Given the description of an element on the screen output the (x, y) to click on. 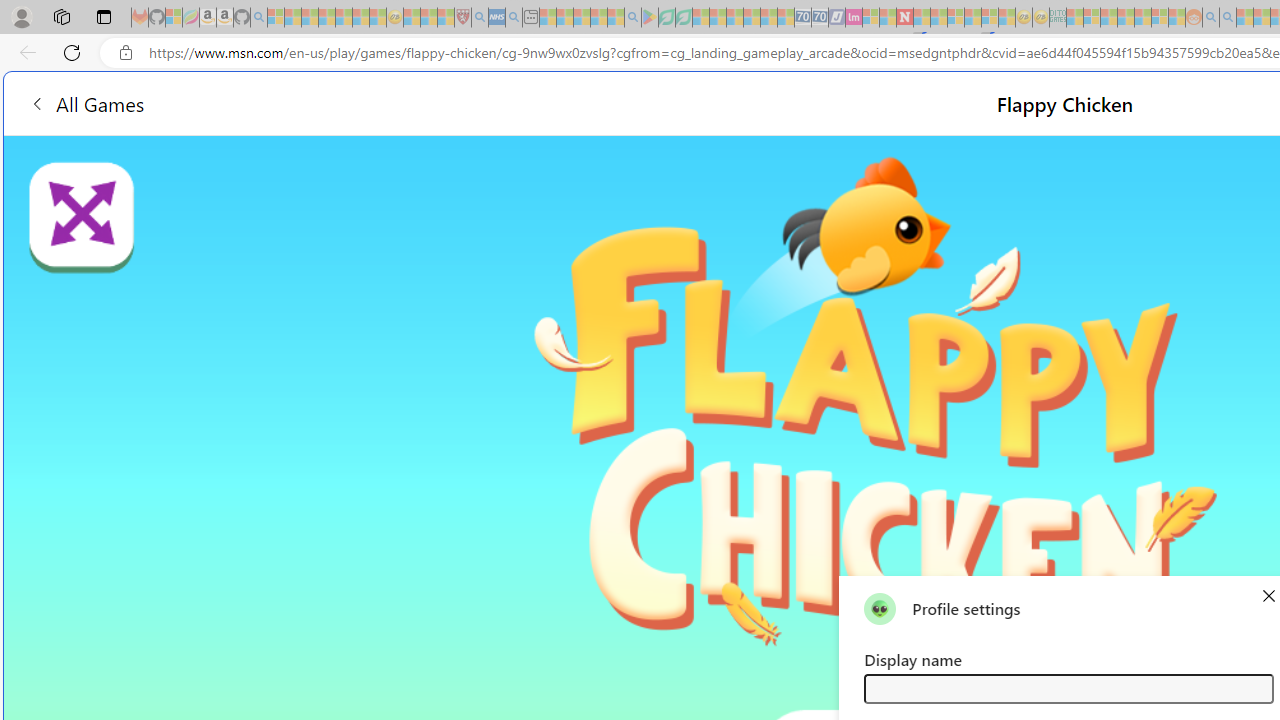
Bluey: Let's Play! - Apps on Google Play - Sleeping (649, 17)
Trusted Community Engagement and Contributions | Guidelines (921, 17)
All Games (373, 102)
Latest Politics News & Archive | Newsweek.com - Sleeping (904, 17)
New tab - Sleeping (530, 17)
Local - MSN - Sleeping (445, 17)
